Given the description of an element on the screen output the (x, y) to click on. 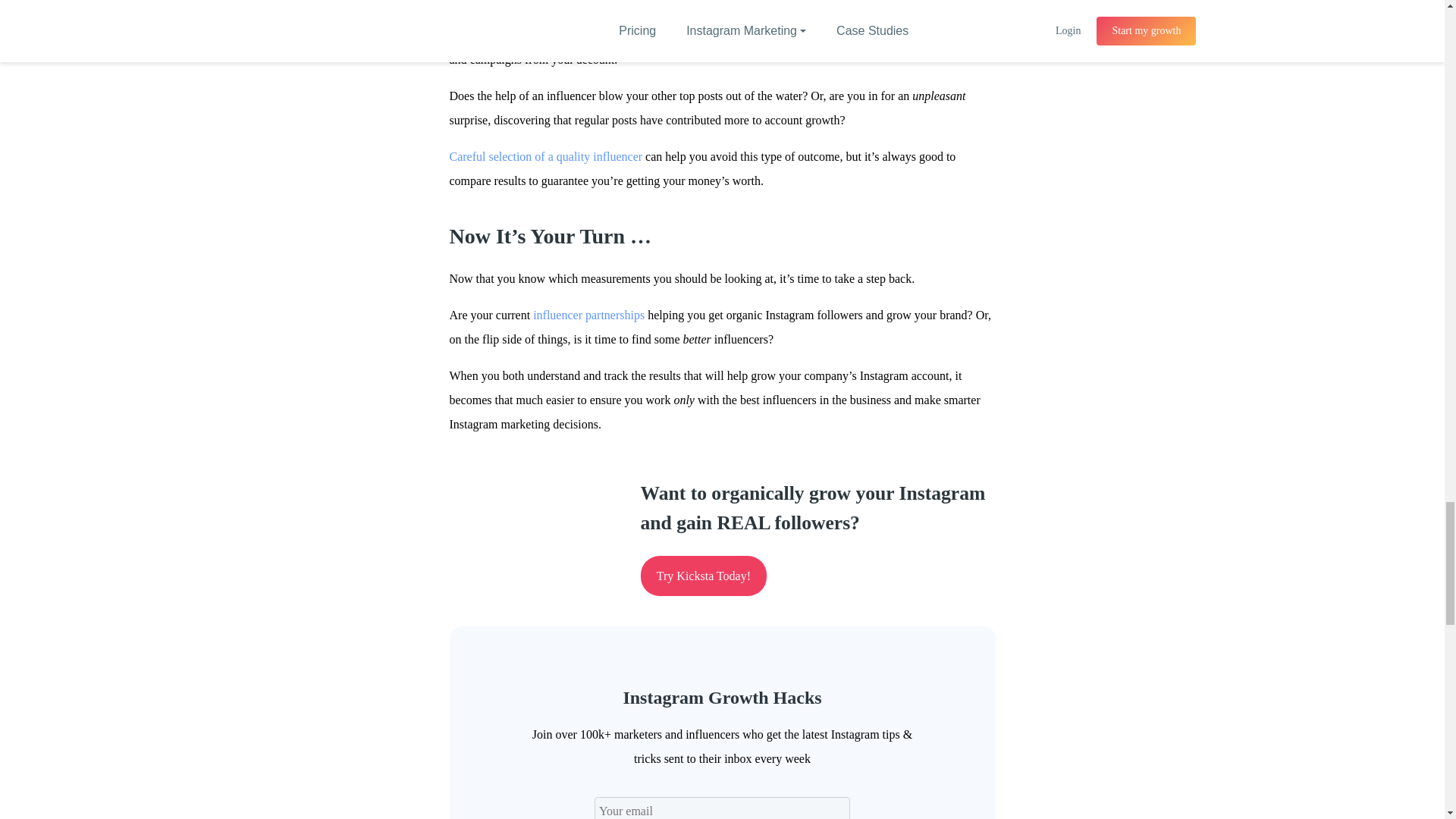
Try Kicksta Today! (703, 576)
Careful selection of a quality influencer (545, 155)
influencer partnerships (588, 314)
